Given the description of an element on the screen output the (x, y) to click on. 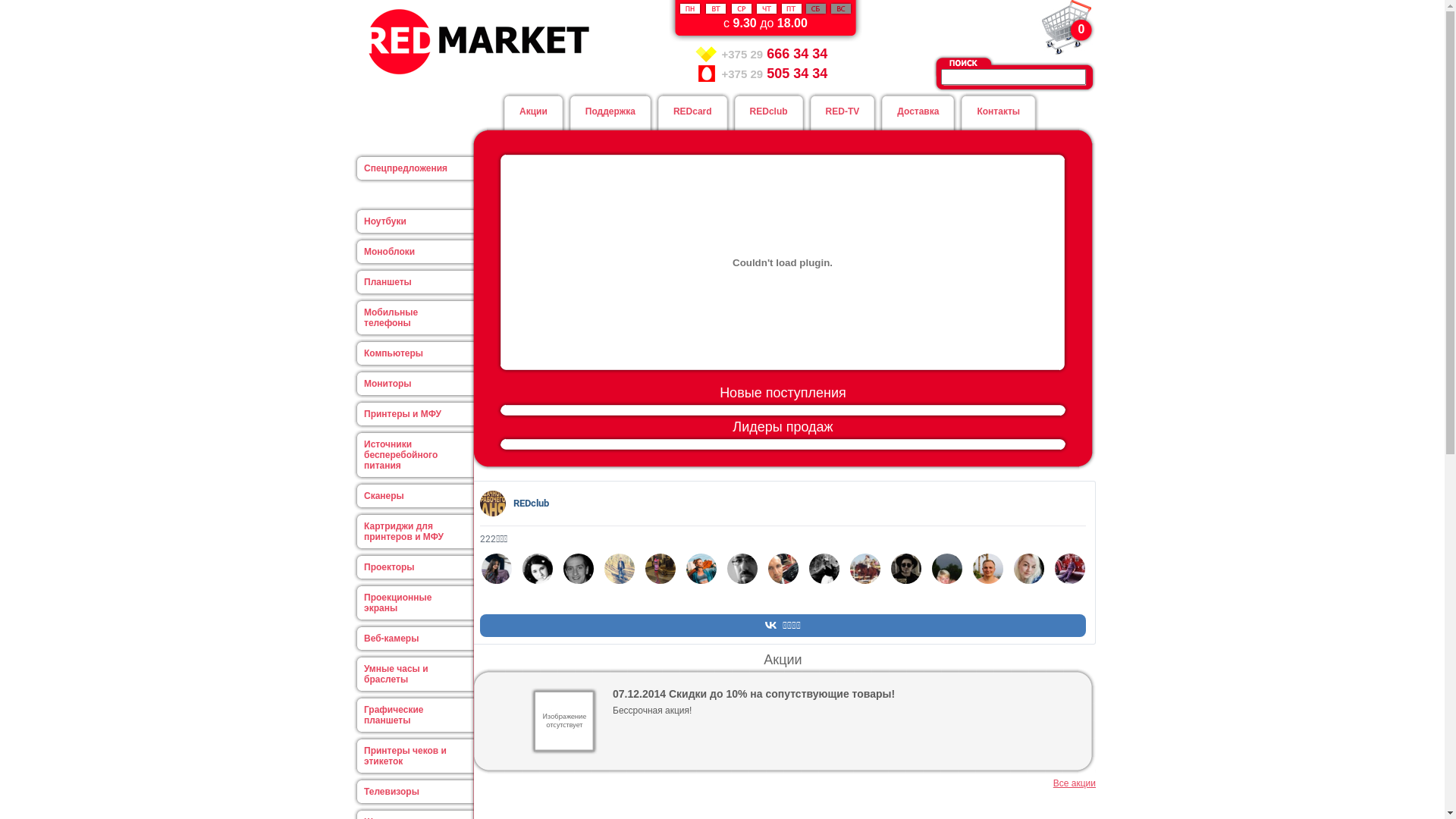
REDcard Element type: text (692, 111)
RED-TV Element type: text (842, 111)
0 Element type: text (1066, 27)
REDclub Element type: text (768, 111)
